Given the description of an element on the screen output the (x, y) to click on. 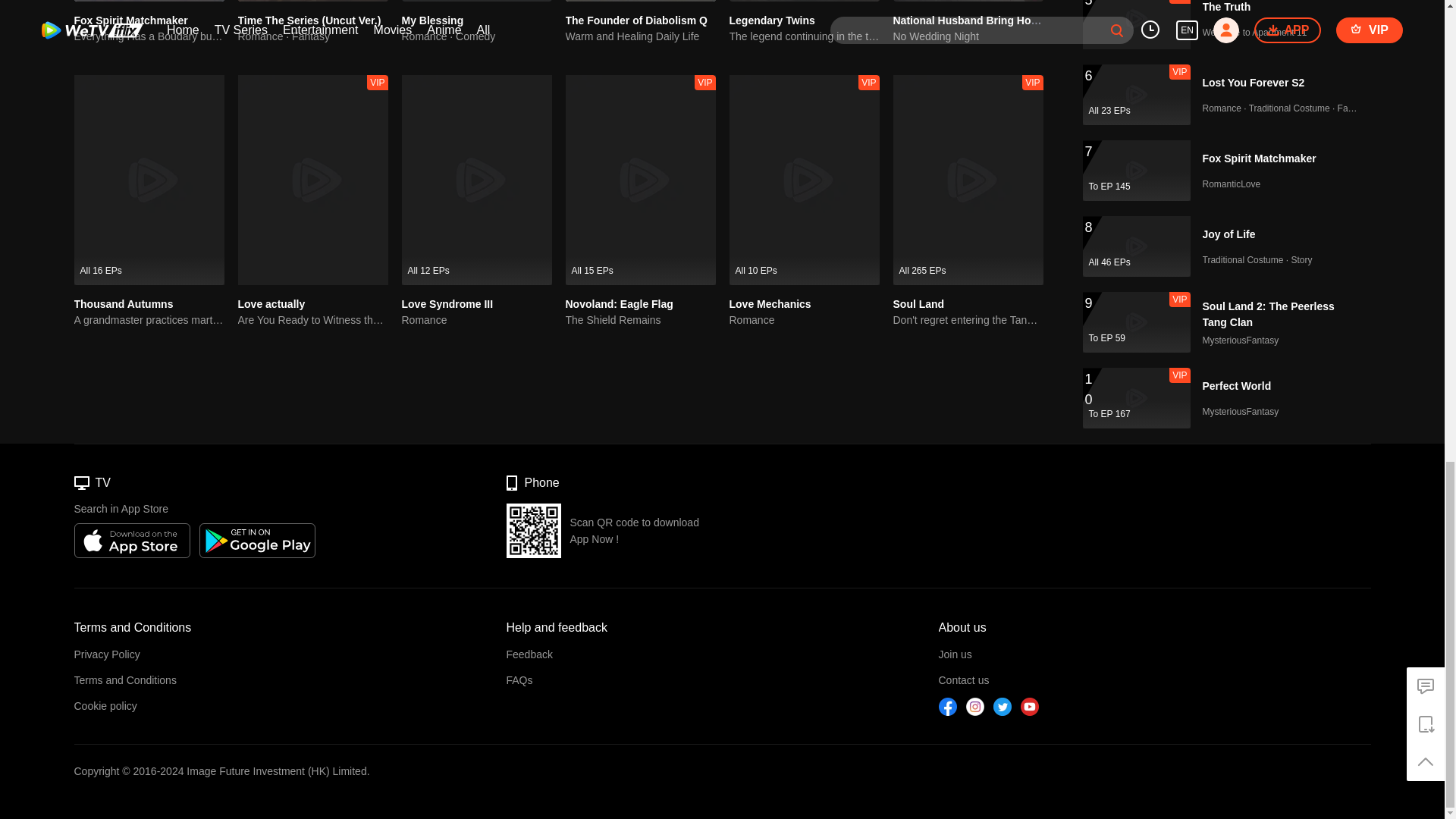
Fox Spirit Matchmaker (130, 20)
My Blessing (432, 20)
Warm and Healing Daily Life (641, 36)
The Founder of Diabolism Q (636, 20)
Legendary Twins (772, 20)
My Blessing (432, 20)
Fox Spirit Matchmaker (130, 20)
No Wedding Night (968, 36)
The Founder of Diabolism Q (636, 20)
